Given the description of an element on the screen output the (x, y) to click on. 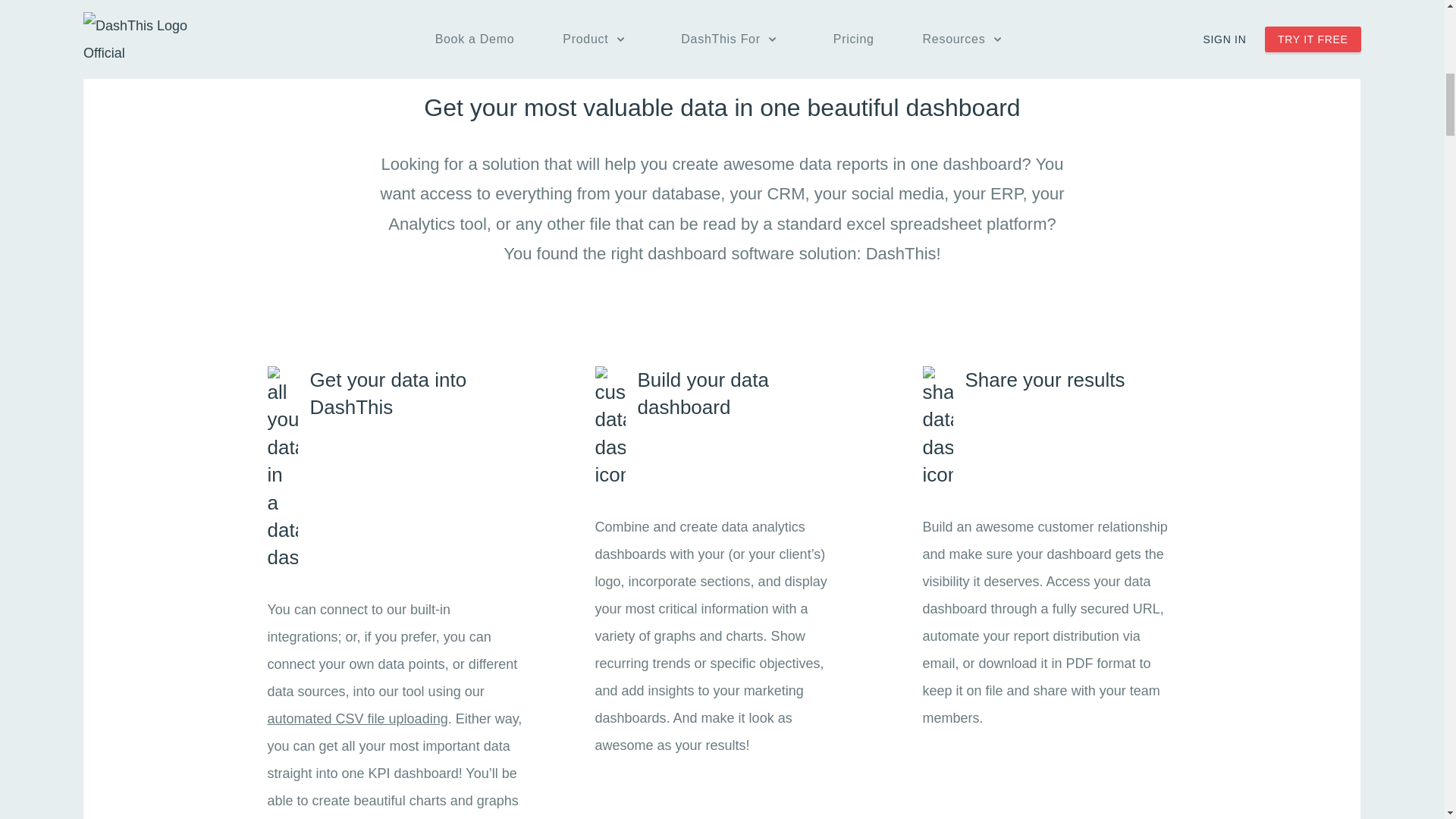
Create reports from CSV (356, 718)
automated CSV file uploading (356, 718)
